Given the description of an element on the screen output the (x, y) to click on. 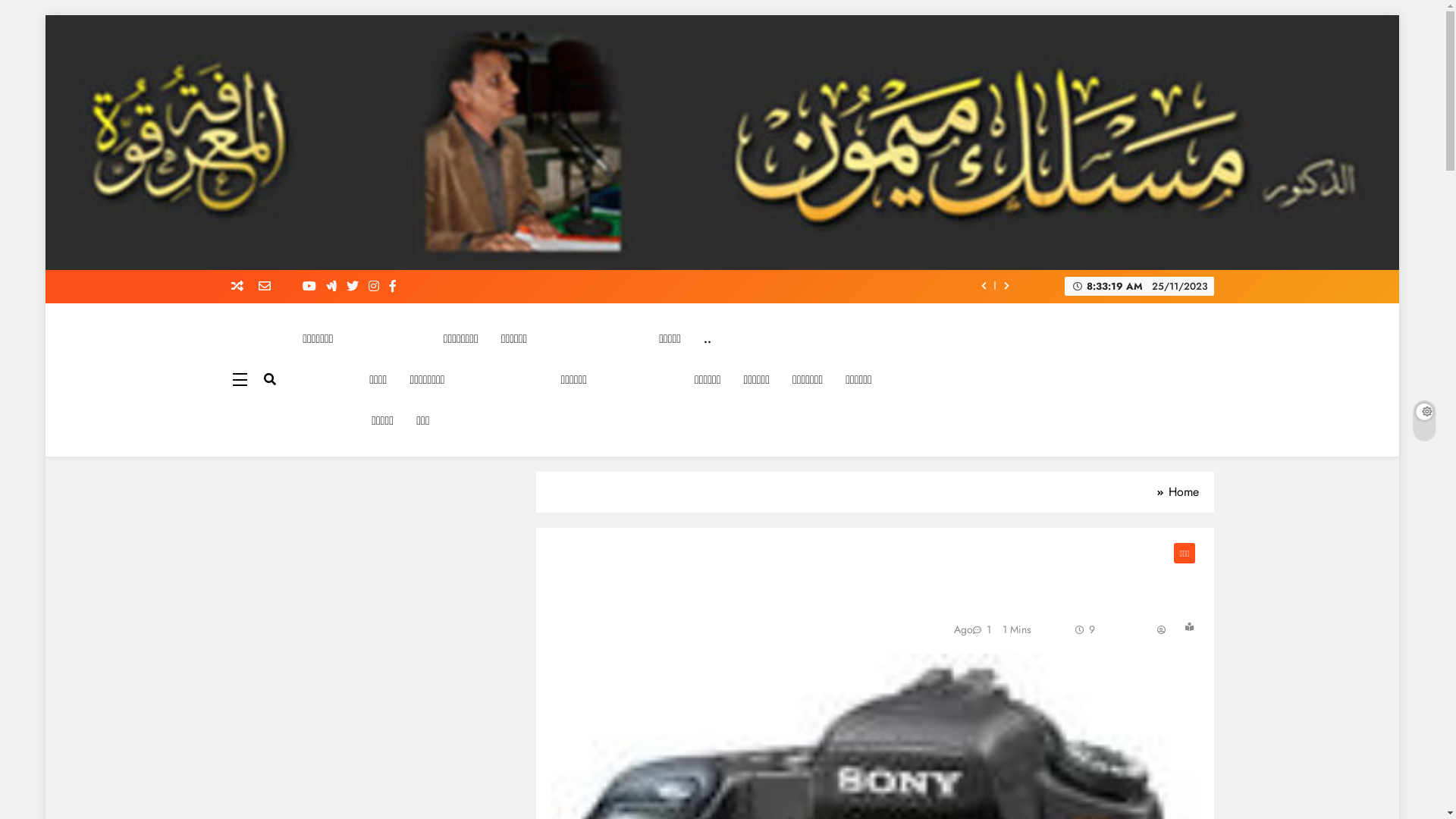
Random News Element type: hover (242, 286)
Home Element type: text (1174, 492)
Newsletter Element type: hover (269, 286)
Skip to content Element type: text (1399, 14)
